Given the description of an element on the screen output the (x, y) to click on. 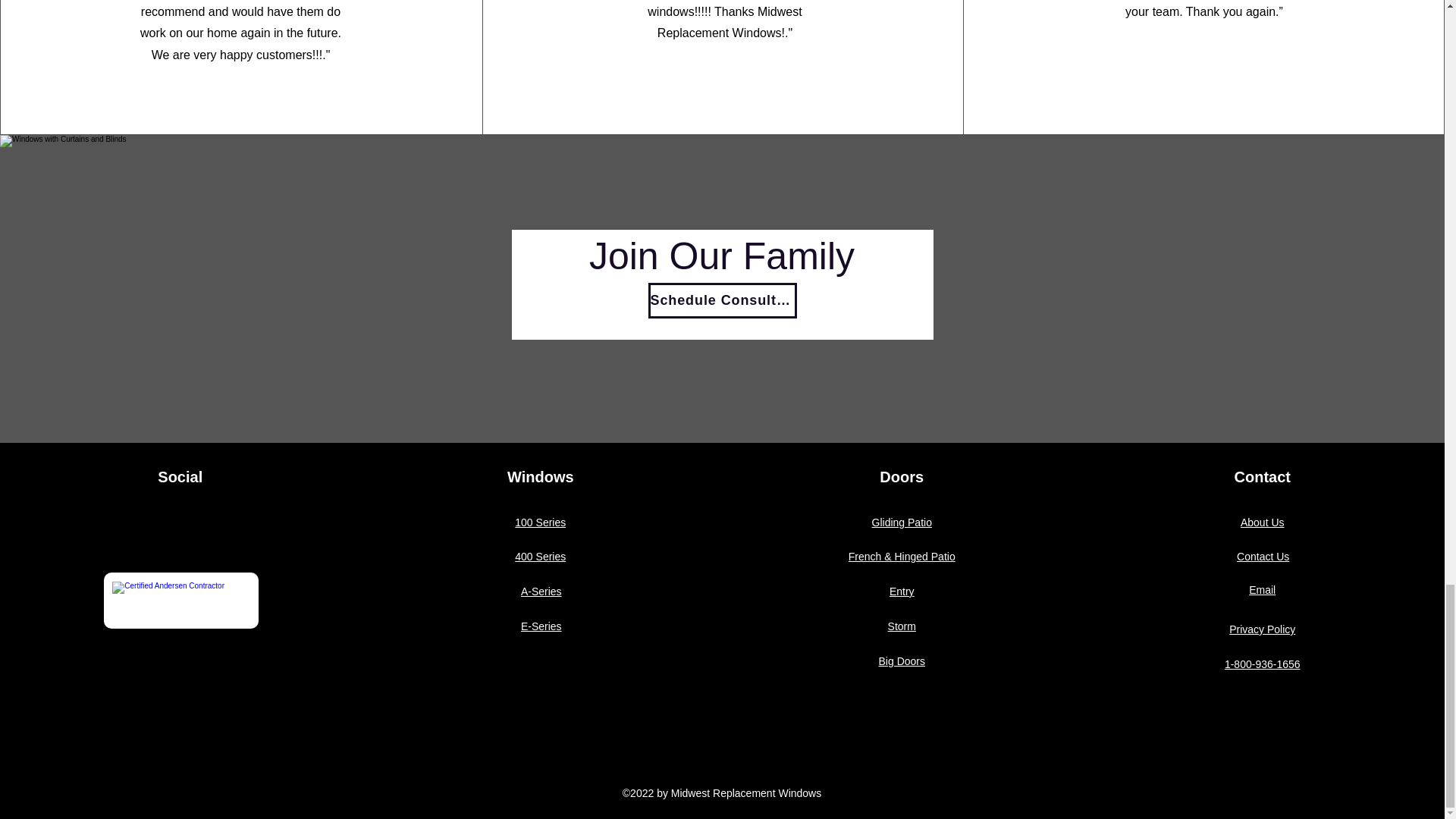
1-800-936-1656 (1262, 664)
E-Series (541, 625)
A-Series (541, 591)
Entry (901, 591)
Big Doors (901, 661)
Email (1262, 589)
Schedule Consultation (721, 300)
100 Series (540, 522)
400 Series (540, 556)
Storm (901, 625)
